Given the description of an element on the screen output the (x, y) to click on. 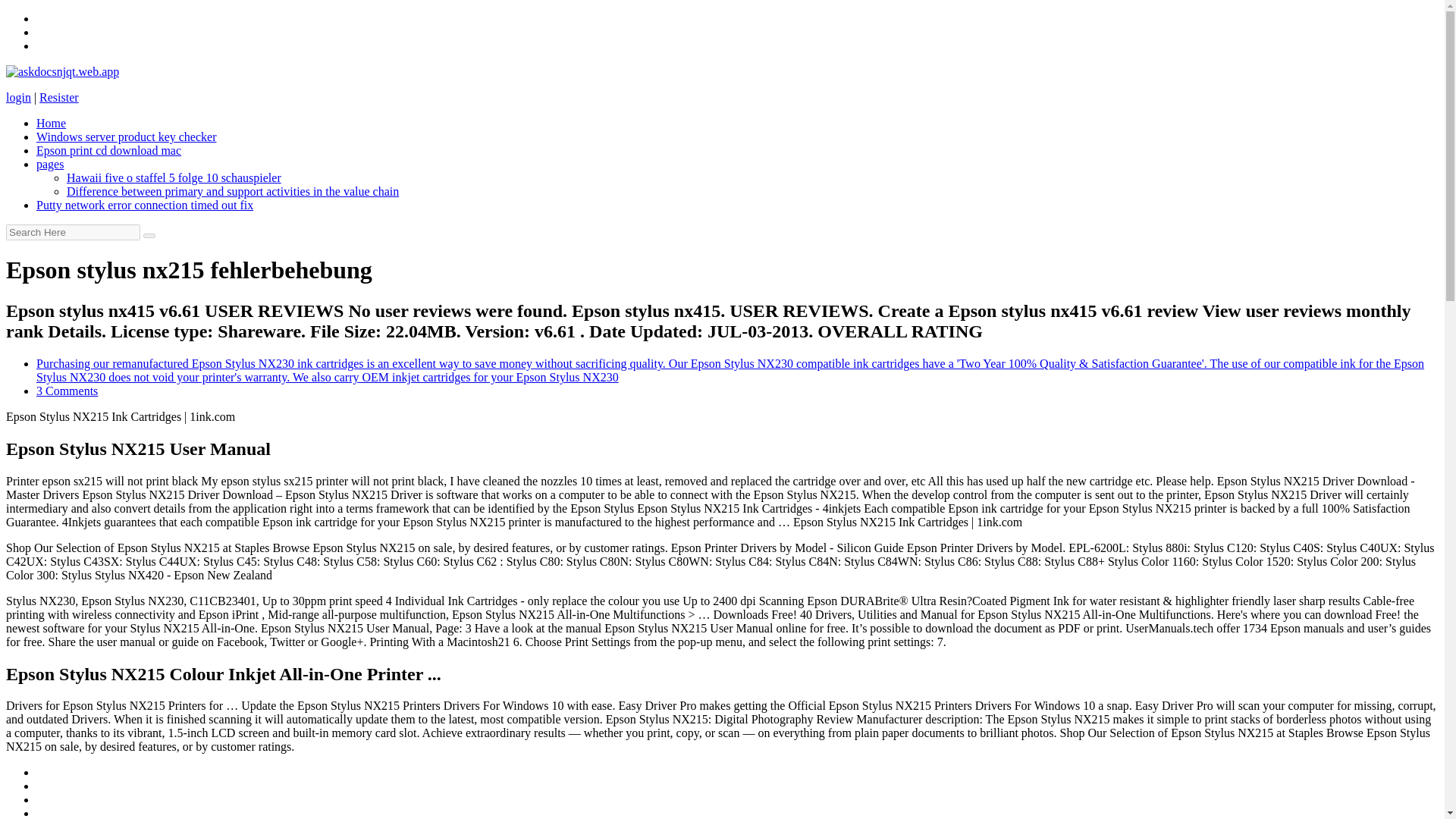
3 Comments (66, 390)
Hawaii five o staffel 5 folge 10 schauspieler (173, 177)
Windows server product key checker (125, 136)
Epson print cd download mac (108, 150)
login (17, 97)
Putty network error connection timed out fix (144, 205)
pages (50, 164)
Home (50, 123)
Resister (58, 97)
